Given the description of an element on the screen output the (x, y) to click on. 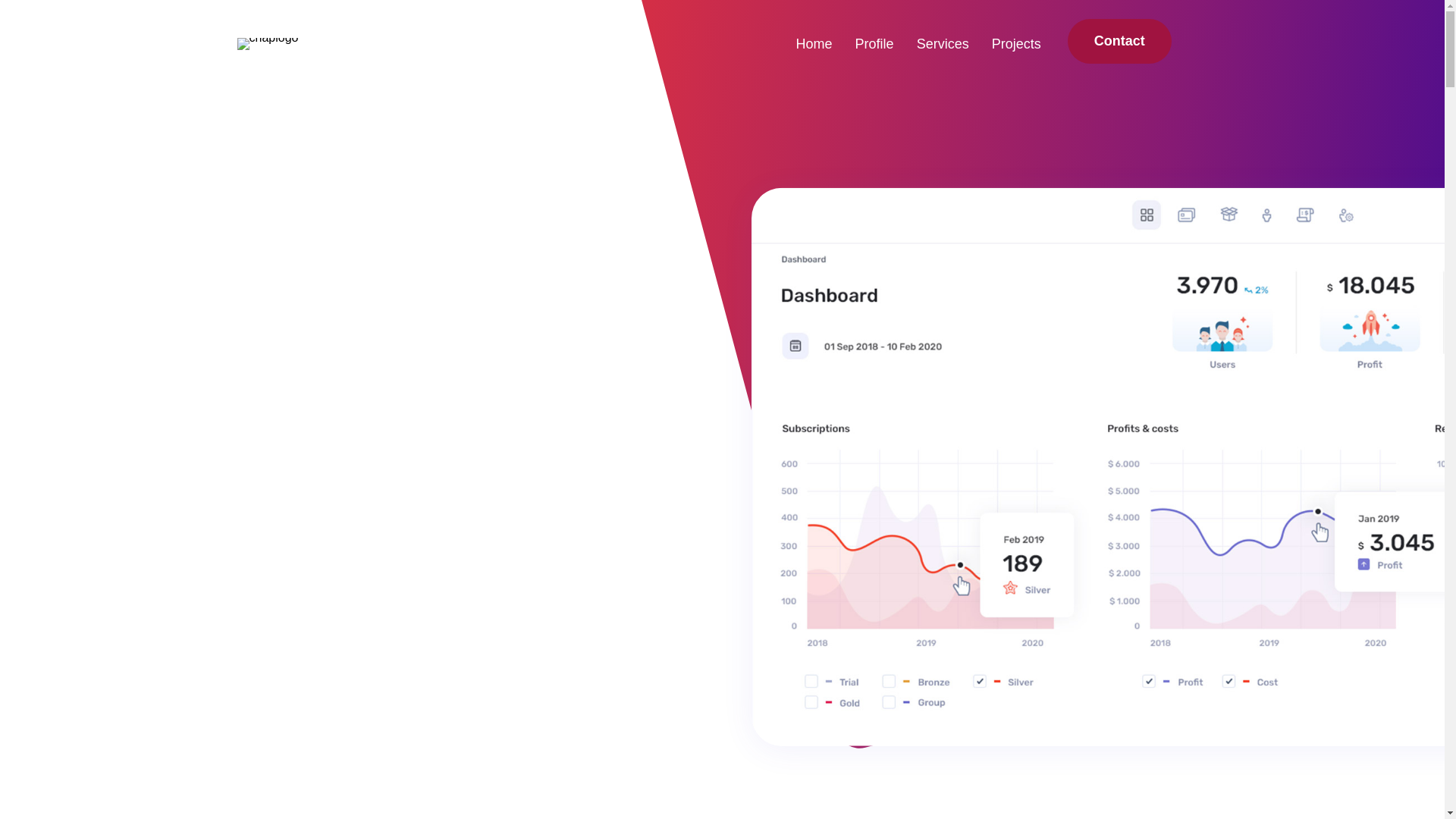
Profile (874, 44)
Home (814, 44)
chaplogo (266, 43)
Services (942, 44)
Contact (1119, 40)
Projects (1015, 44)
